Given the description of an element on the screen output the (x, y) to click on. 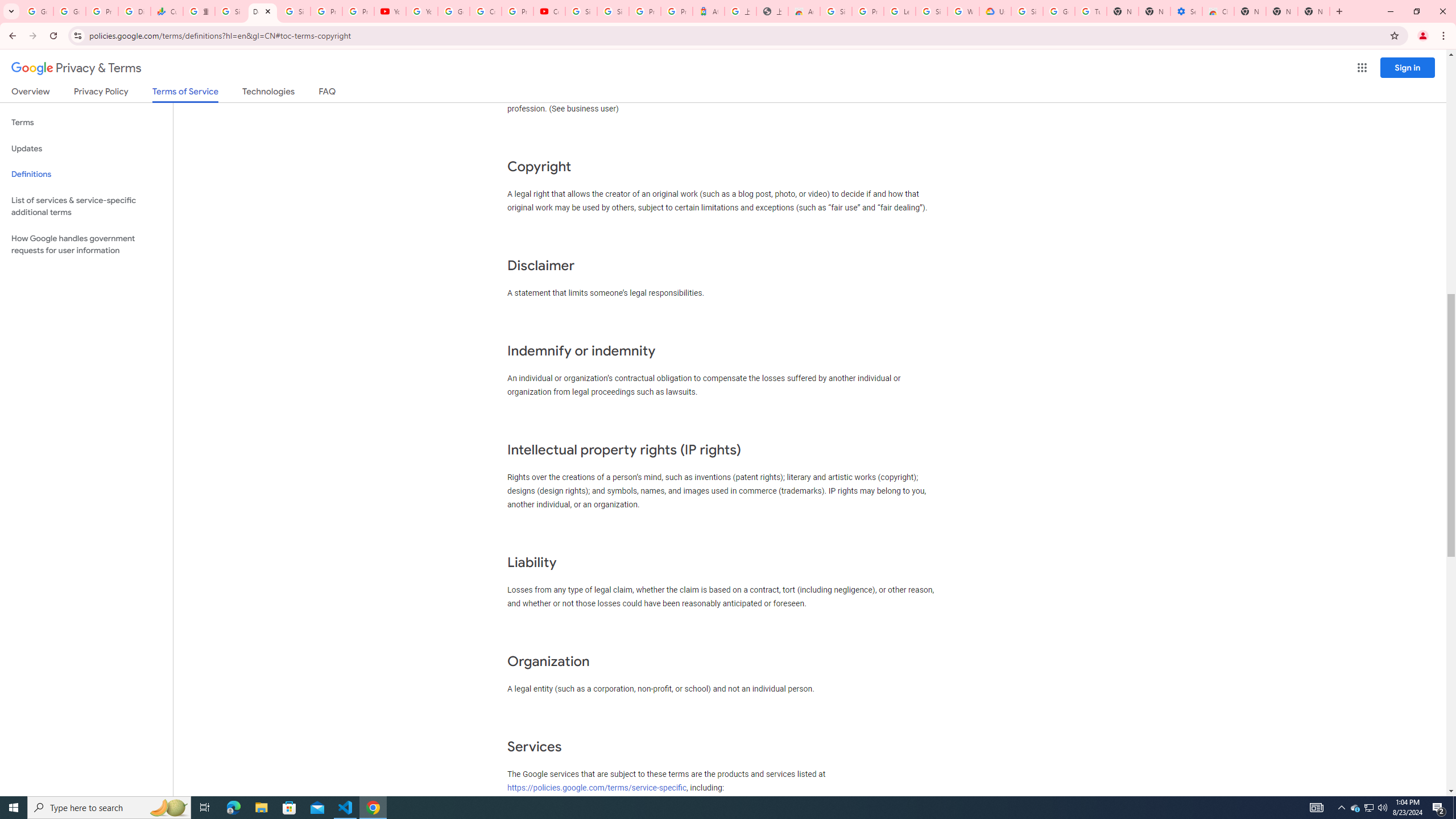
Sign in - Google Accounts (230, 11)
Google Account Help (453, 11)
YouTube (421, 11)
Sign in - Google Accounts (1027, 11)
